Given the description of an element on the screen output the (x, y) to click on. 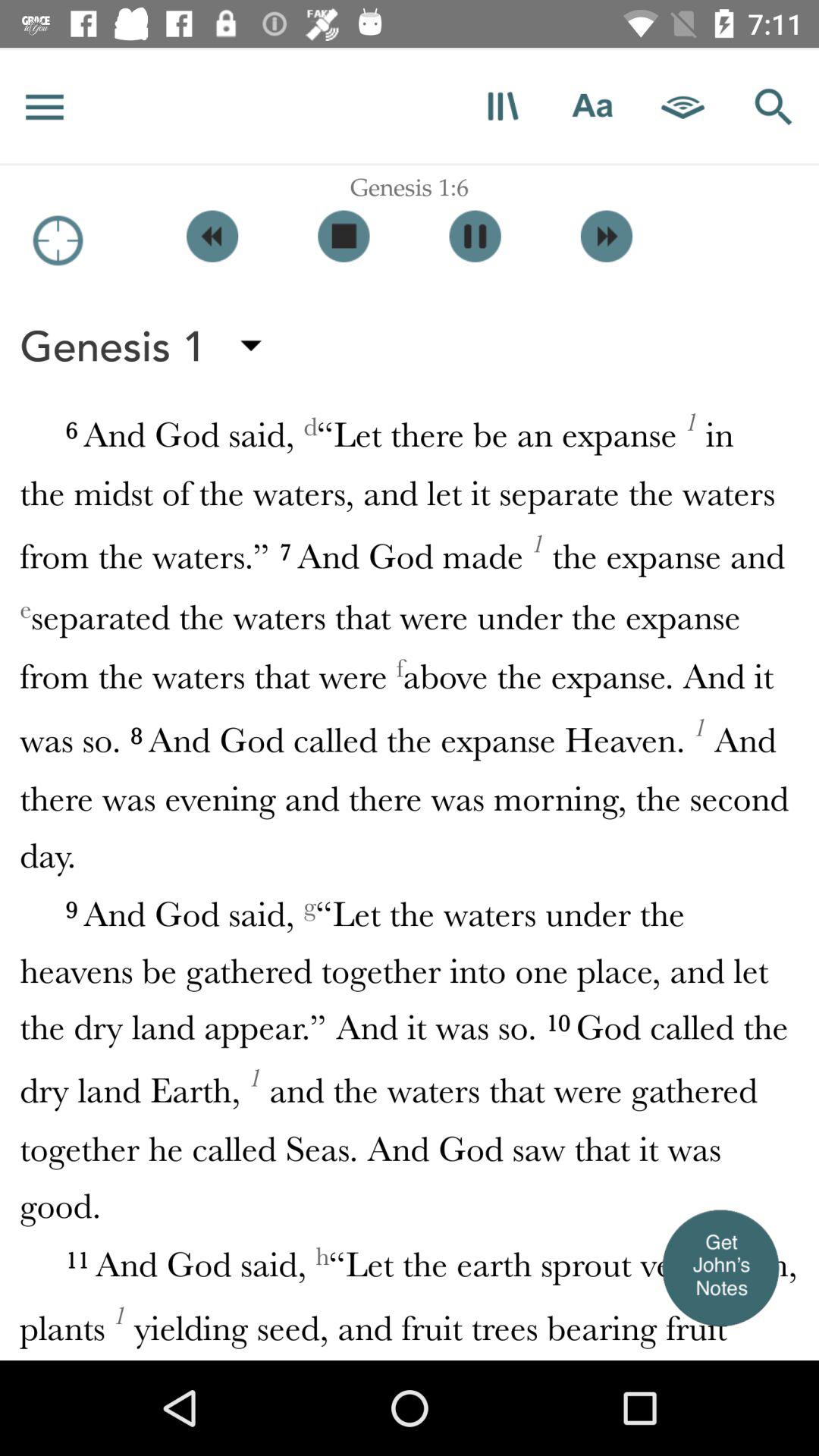
stop the reading (343, 236)
